Given the description of an element on the screen output the (x, y) to click on. 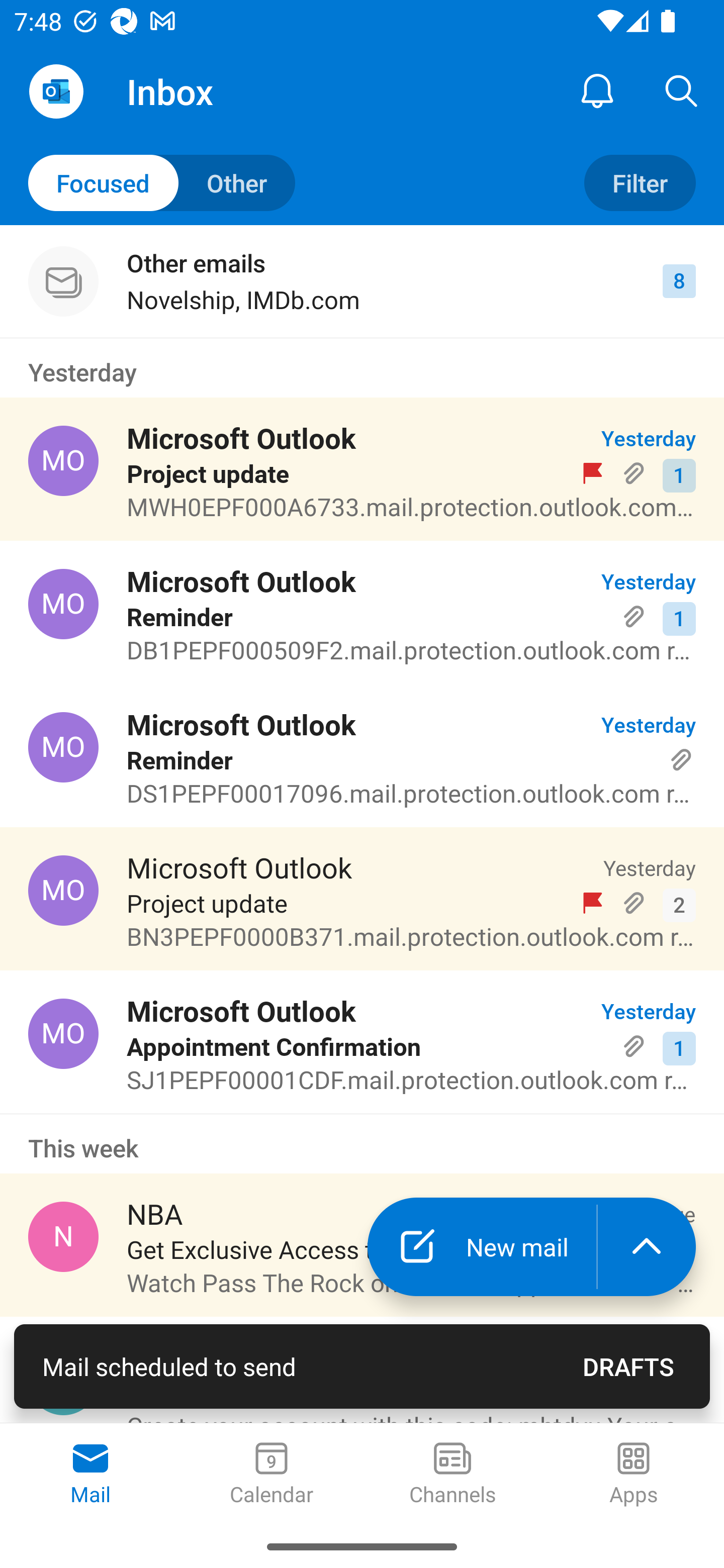
Notification Center (597, 90)
Search, ,  (681, 90)
Open Navigation Drawer (55, 91)
Toggle to other mails (161, 183)
Filter (639, 183)
Other emails Novelship, IMDb.com 8 (362, 281)
New mail (481, 1246)
launch the extended action menu (646, 1246)
NBA, NBA@email.nba.com (63, 1236)
DRAFTS (628, 1366)
Calendar (271, 1474)
Channels (452, 1474)
Apps (633, 1474)
